Given the description of an element on the screen output the (x, y) to click on. 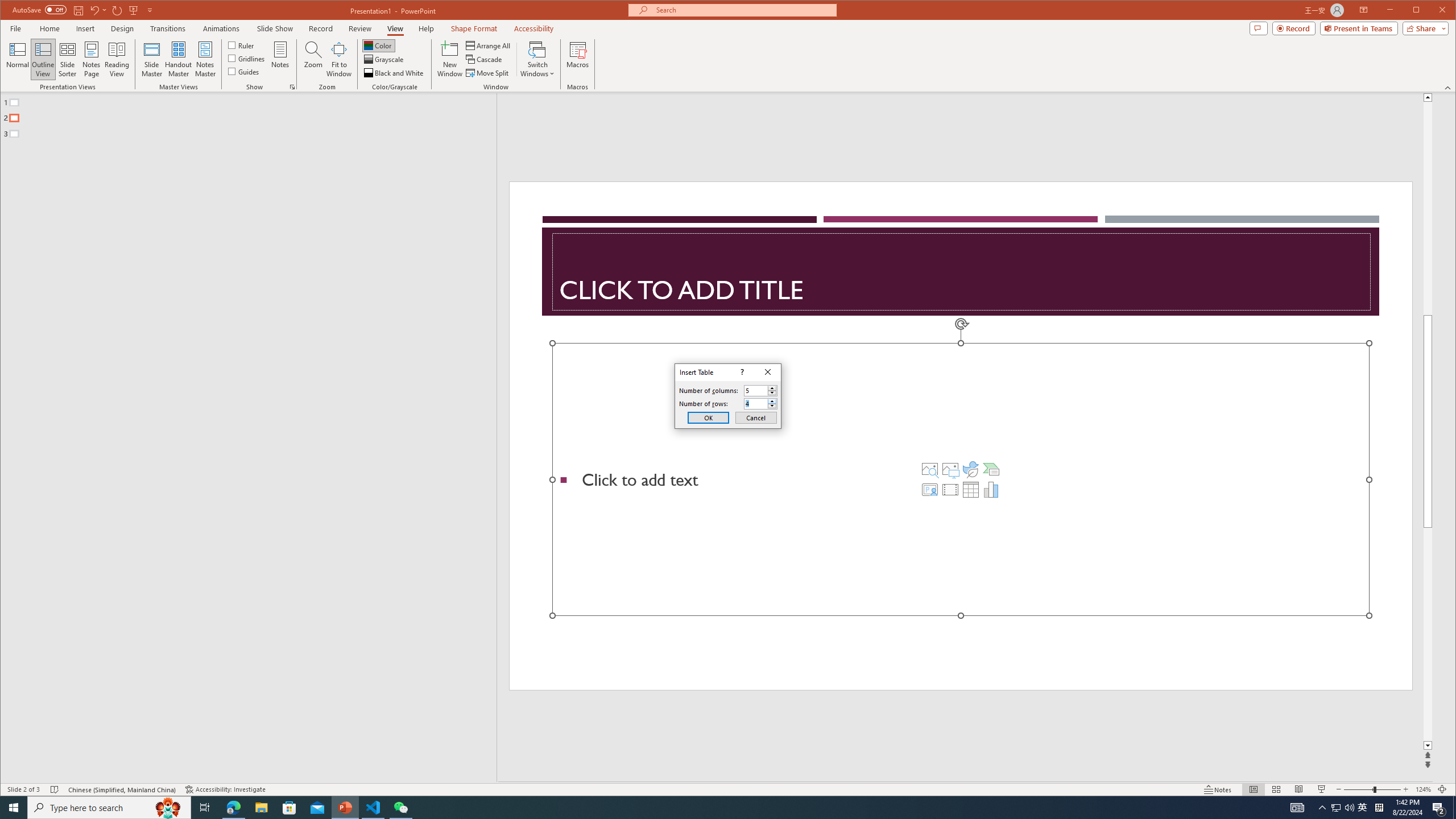
Gridlines (246, 57)
Number of columns (760, 390)
Microsoft Edge - 1 running window (233, 807)
Insert Video (949, 489)
Context help (741, 371)
Macros (576, 59)
Running applications (707, 807)
